Given the description of an element on the screen output the (x, y) to click on. 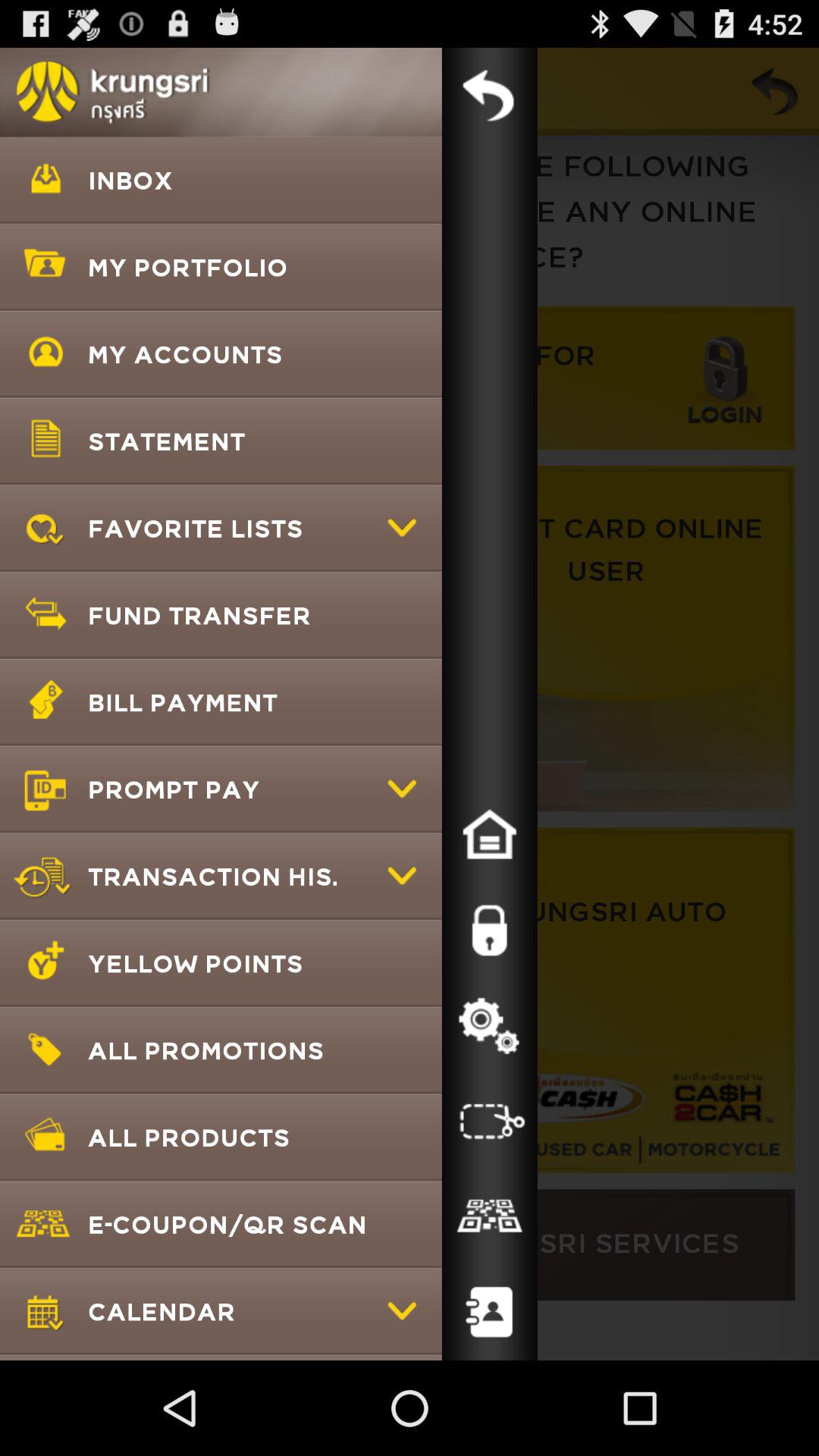
go to (489, 834)
